Given the description of an element on the screen output the (x, y) to click on. 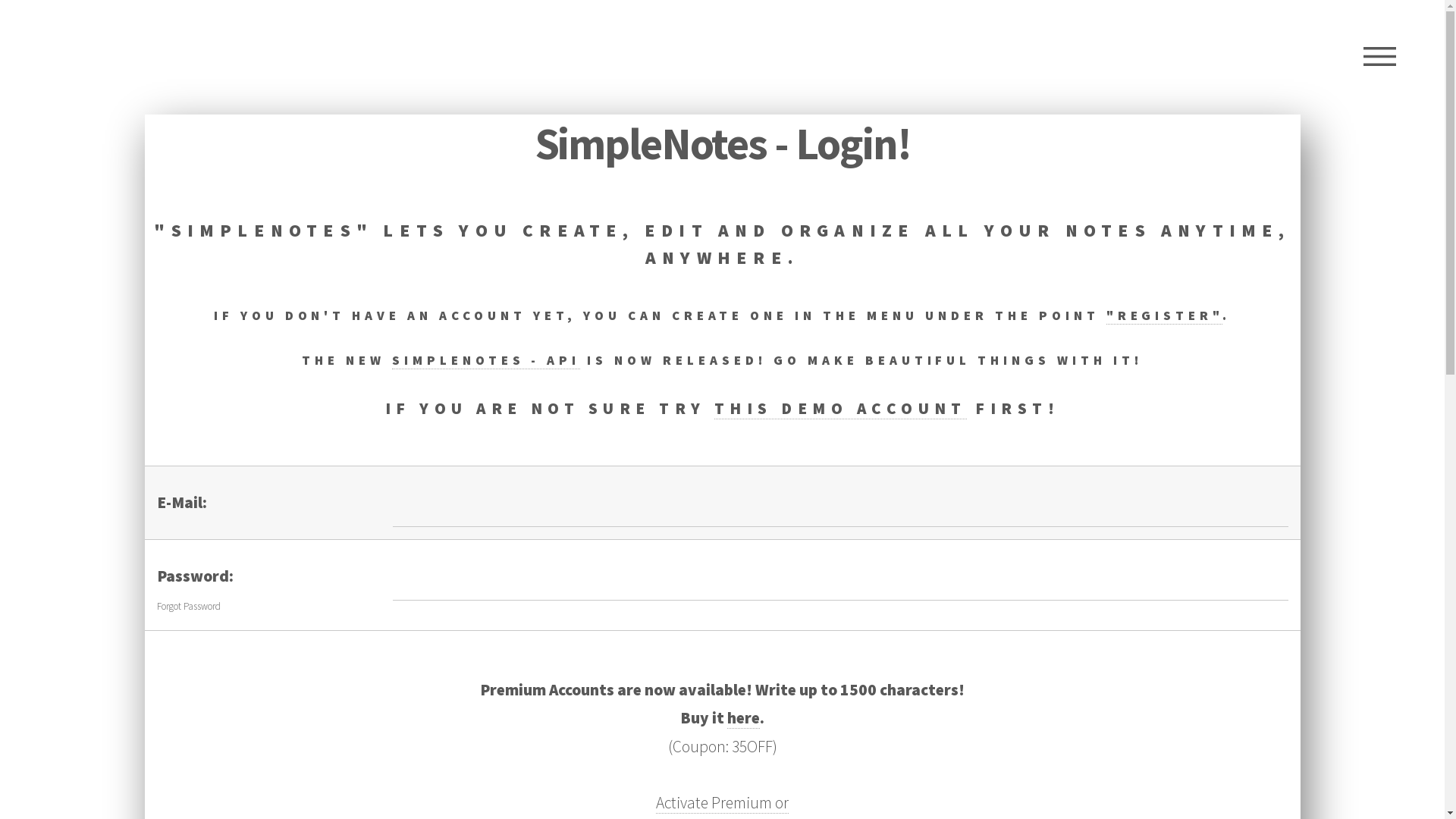
SIMPLENOTES - API Element type: text (486, 360)
here Element type: text (743, 717)
THIS DEMO ACCOUNT Element type: text (840, 408)
"REGISTER" Element type: text (1164, 315)
MENU Element type: text (1379, 56)
Forgot Password Element type: text (187, 605)
